Given the description of an element on the screen output the (x, y) to click on. 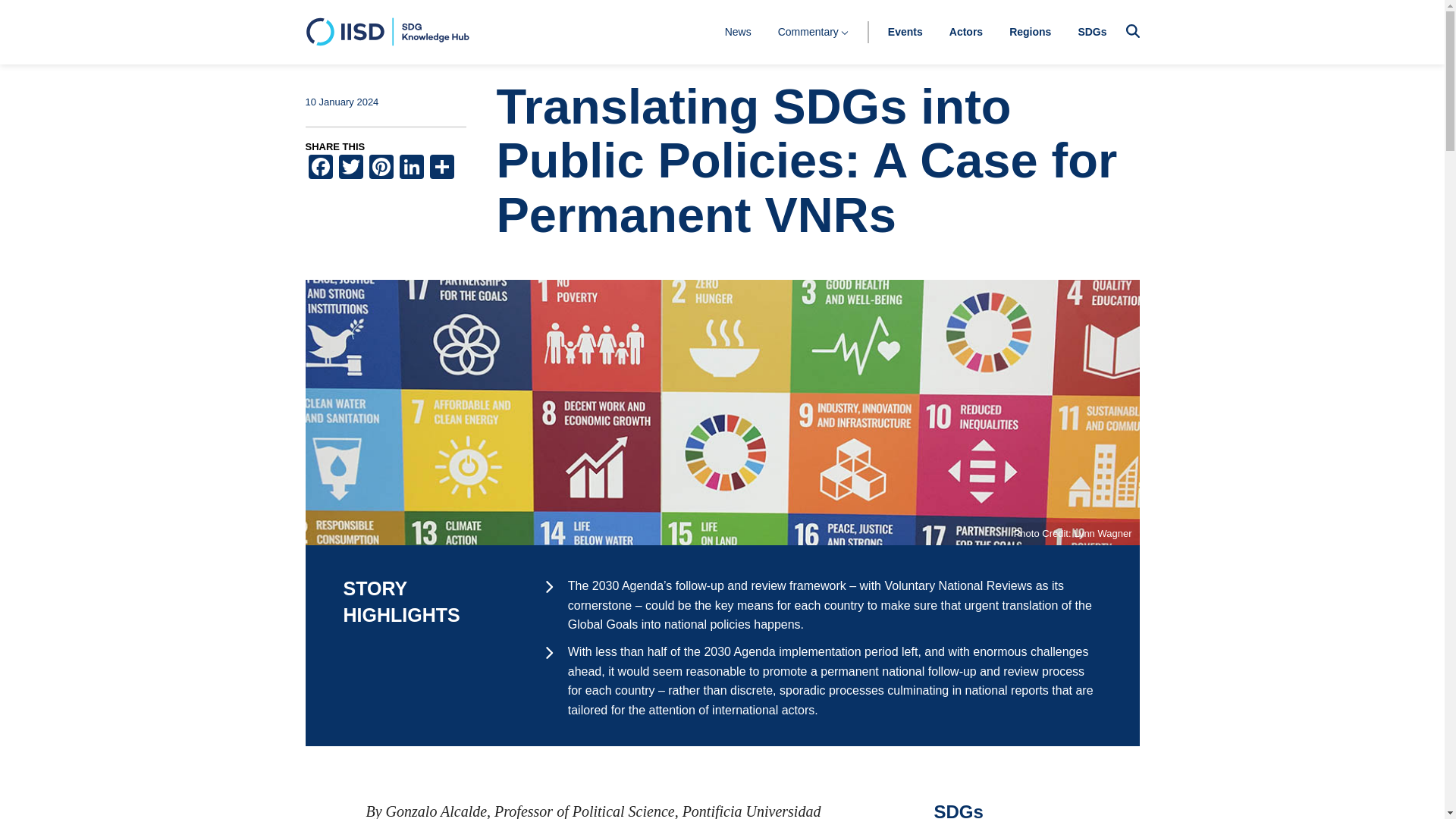
News (738, 31)
Twitter (349, 168)
Actors (965, 31)
Regions (1030, 31)
Twitter (349, 168)
SDGs (1091, 31)
LinkedIn (411, 168)
Events (905, 31)
Facebook (319, 168)
LinkedIn (411, 168)
